Given the description of an element on the screen output the (x, y) to click on. 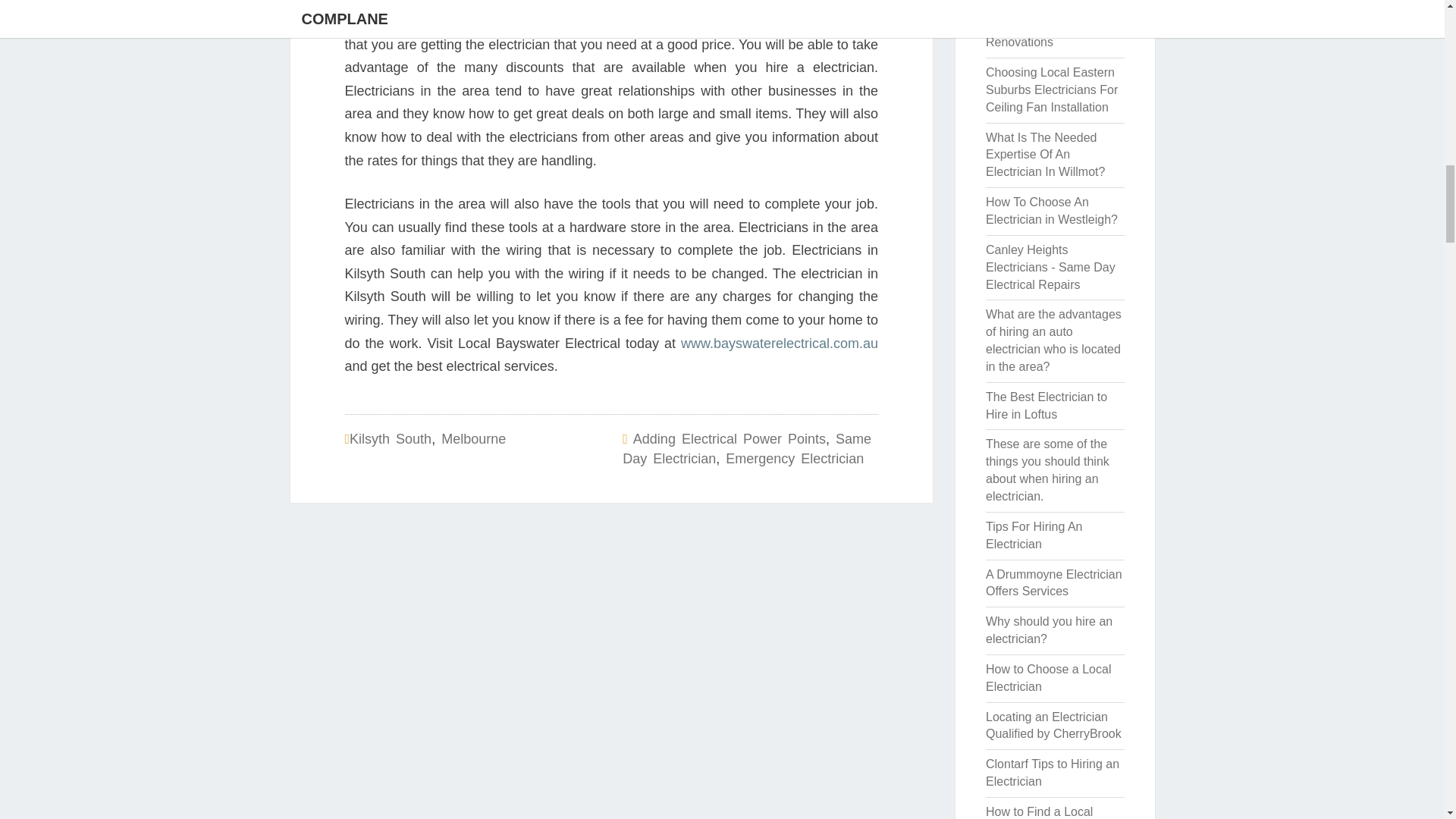
Emergency Electrician (794, 458)
www.bayswaterelectrical.com.au (779, 343)
The Best Electrician to Hire in Loftus (1045, 405)
Kilsyth South (389, 438)
Melbourne (473, 438)
How to Find an Electrician for Home Renovations (1039, 25)
Canley Heights Electricians - Same Day Electrical Repairs (1050, 267)
How to Choose a Local Electrician (1047, 677)
How To Choose An Electrician in Westleigh? (1051, 210)
Adding Electrical Power Points (729, 438)
Tips For Hiring An Electrician (1033, 535)
A Drummoyne Electrician Offers Services (1053, 583)
Same Day Electrician (746, 448)
